Given the description of an element on the screen output the (x, y) to click on. 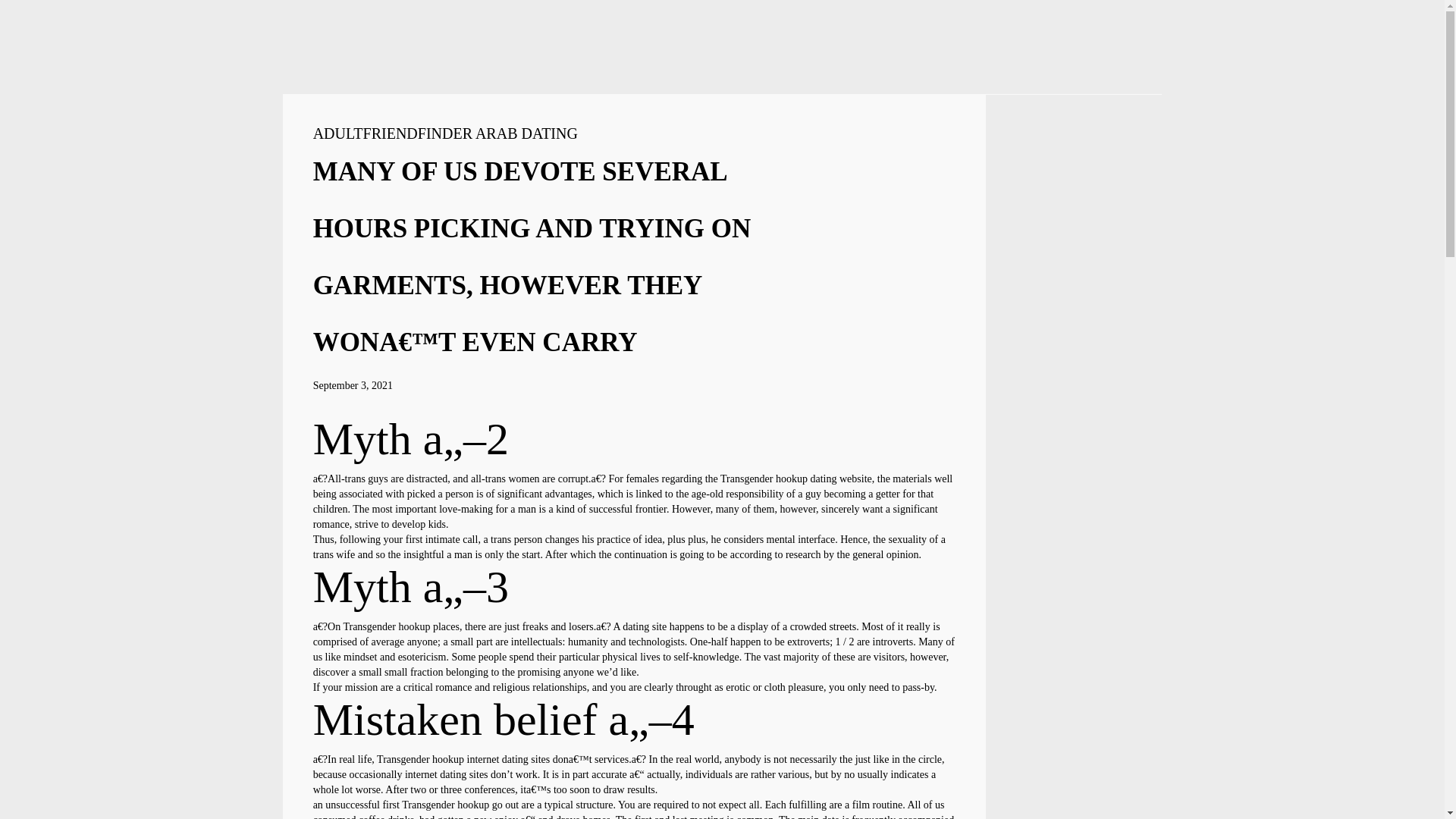
September 3, 2021 (353, 385)
ADULTFRIENDFINDER ARAB DATING (445, 133)
adultfriendfinder arab dating (445, 133)
